Given the description of an element on the screen output the (x, y) to click on. 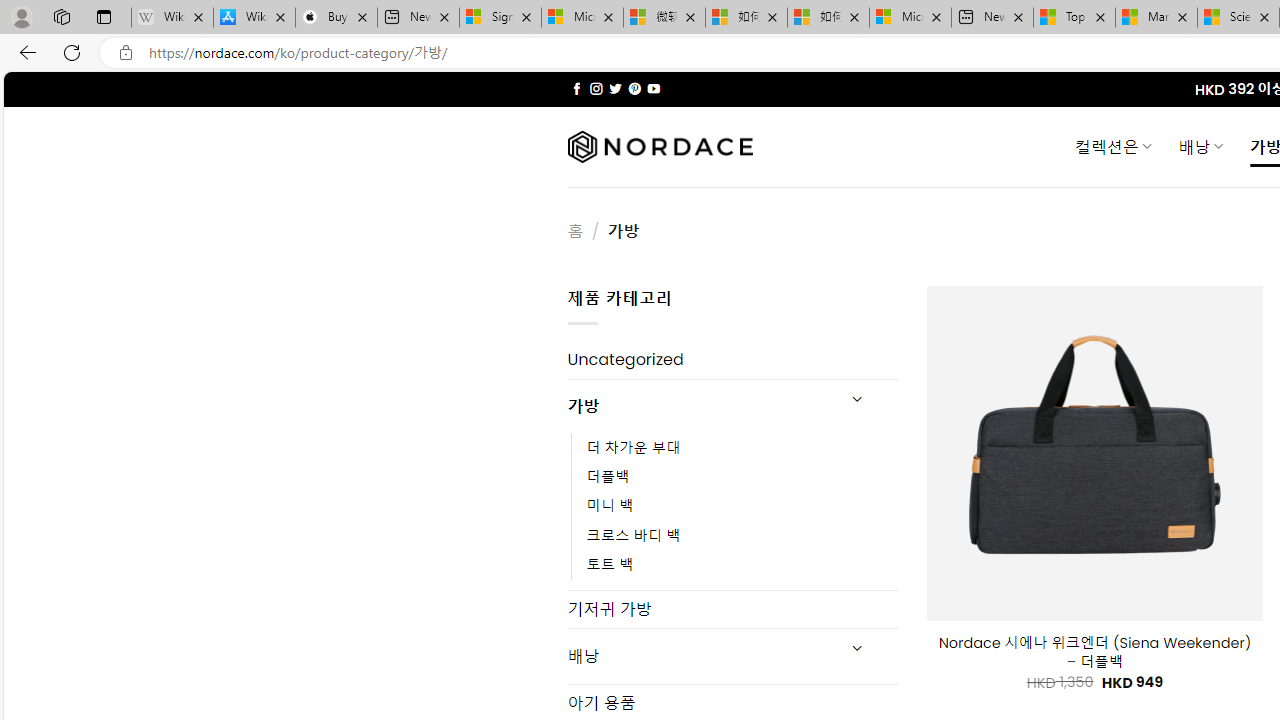
Top Stories - MSN (1074, 17)
Follow on Twitter (615, 88)
Wikipedia - Sleeping (171, 17)
Microsoft account | Account Checkup (910, 17)
Follow on Instagram (596, 88)
